Given the description of an element on the screen output the (x, y) to click on. 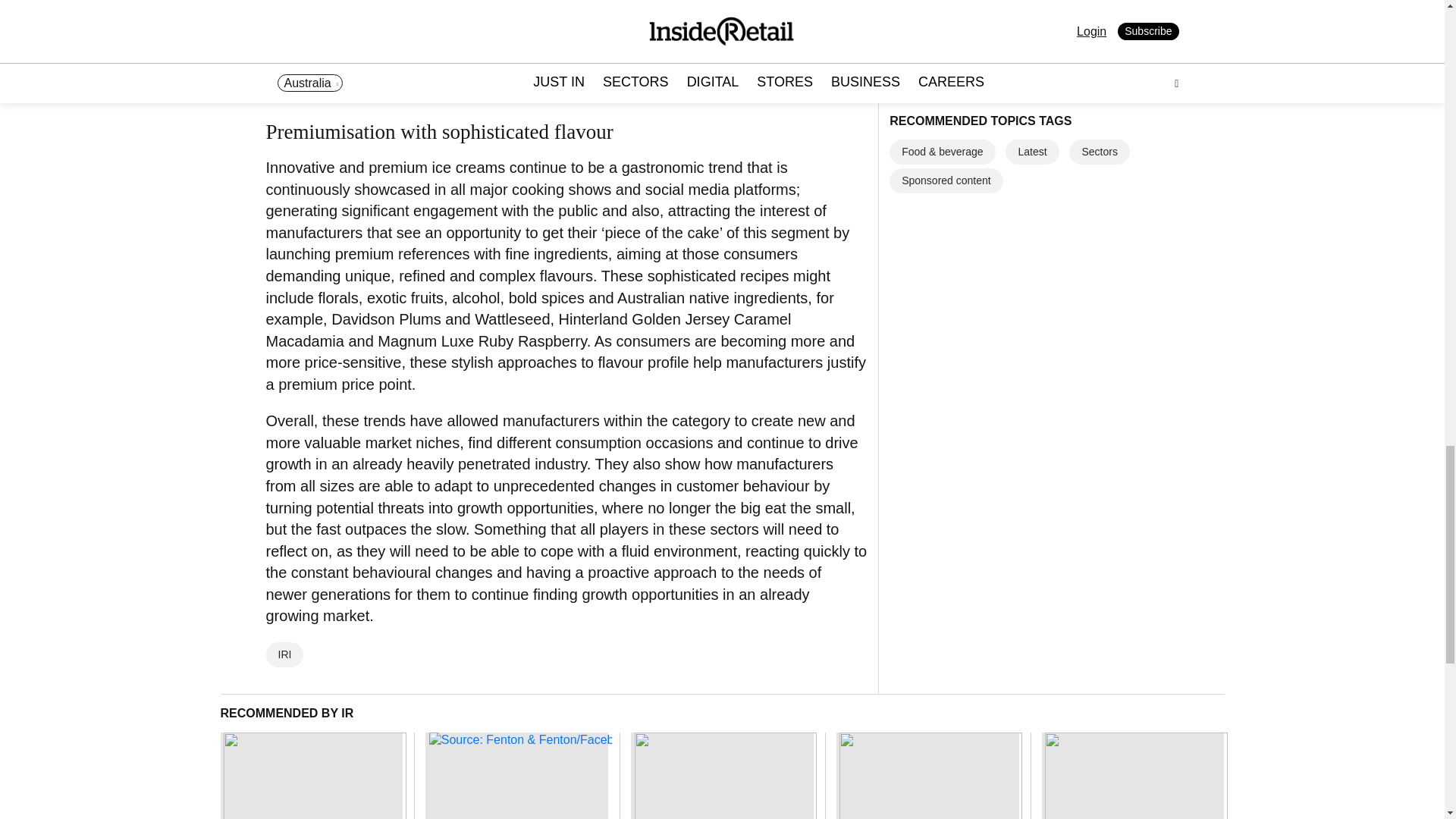
3rd party ad content (1002, 123)
